Given the description of an element on the screen output the (x, y) to click on. 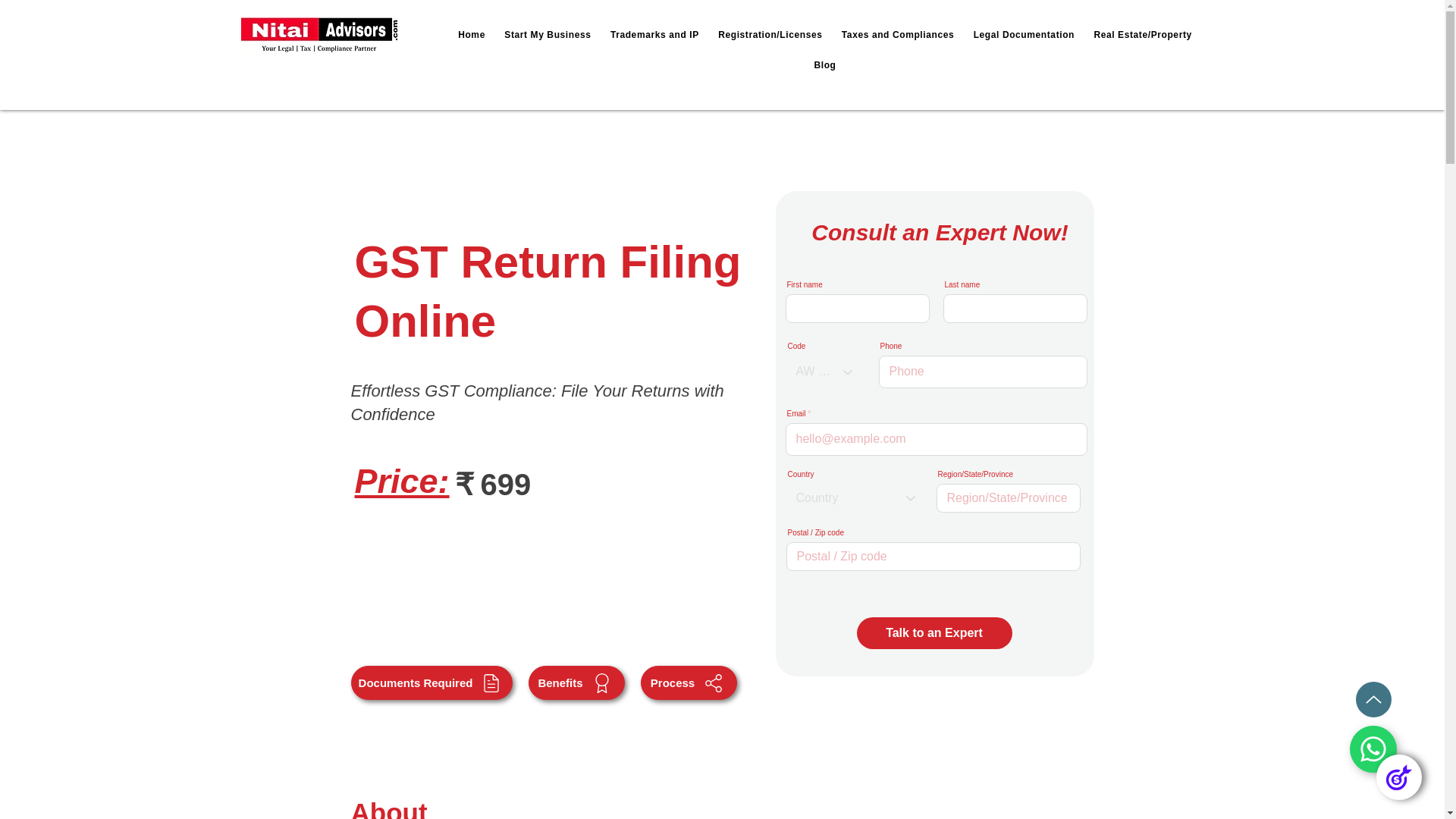
Home (471, 34)
